Given the description of an element on the screen output the (x, y) to click on. 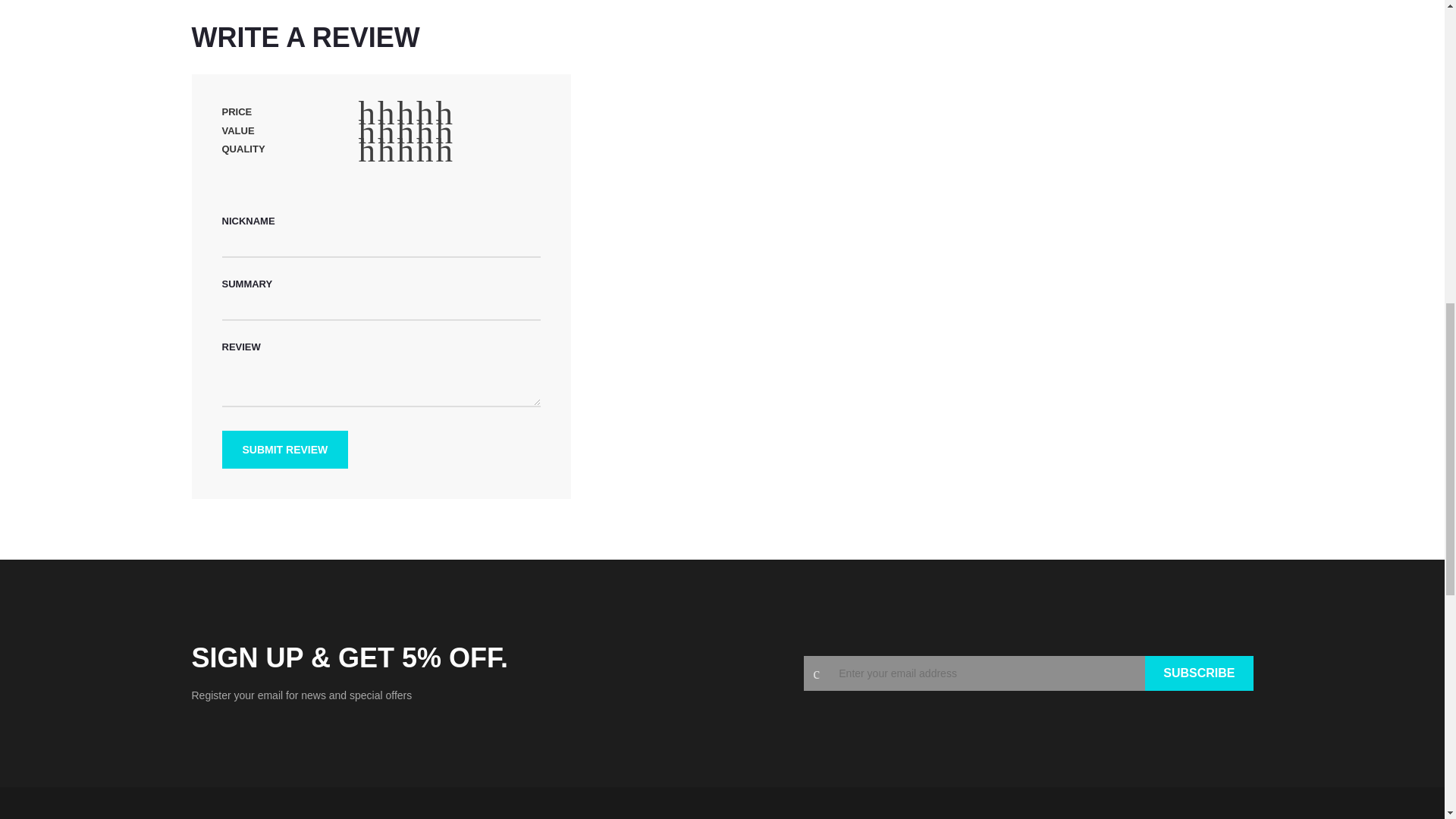
4 stars (396, 112)
3 stars (387, 149)
1 star (367, 112)
2 stars (377, 149)
1 star (367, 131)
